Given the description of an element on the screen output the (x, y) to click on. 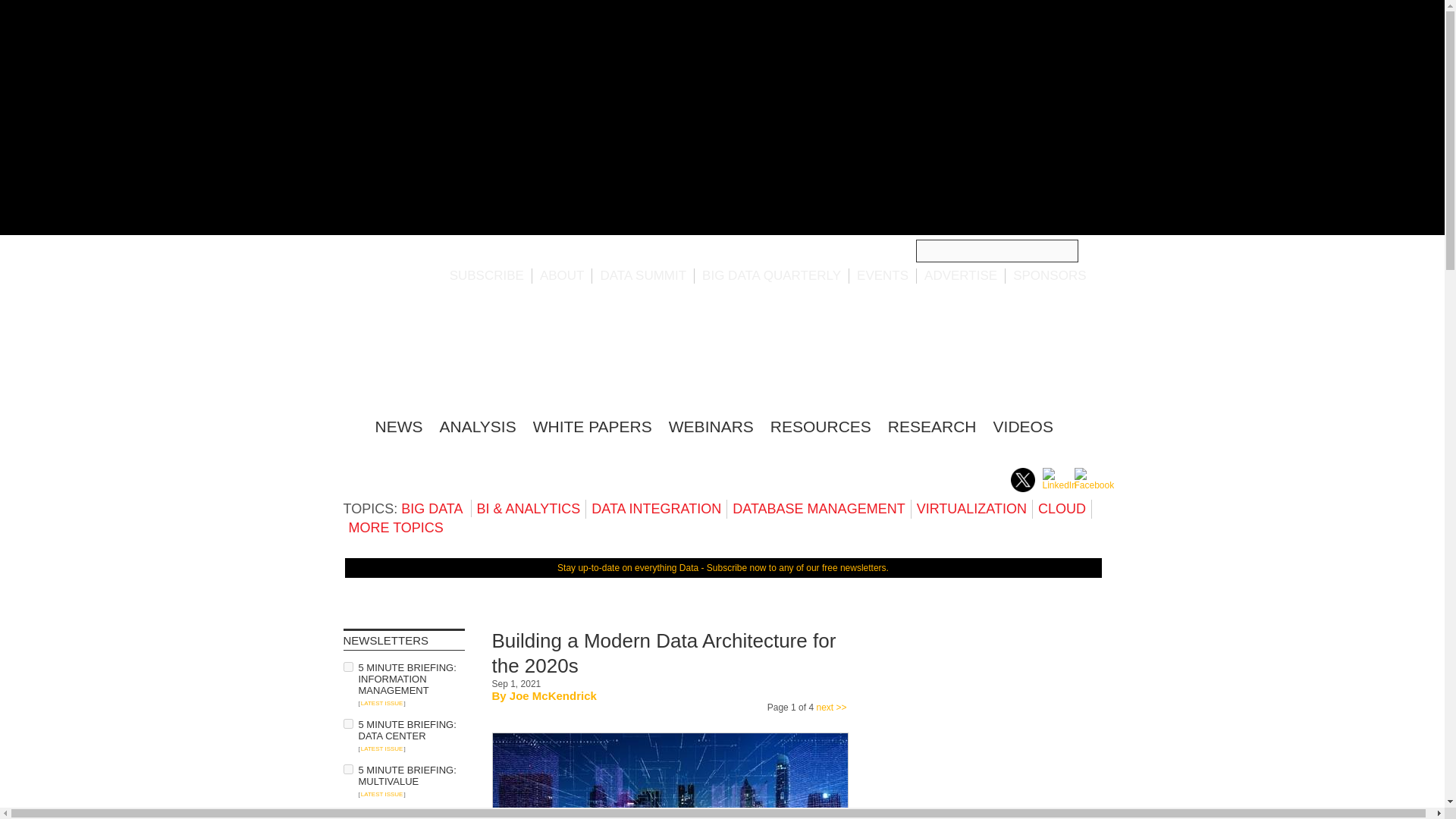
BIG DATA QUARTERLY (771, 275)
VIDEOS (1022, 425)
ADVERTISE (960, 275)
Click for more articles by this author (552, 695)
on (347, 768)
NEWS (398, 425)
RESOURCES (820, 425)
3rd party ad content (824, 347)
DBTA on LinkedIn (1058, 484)
